Given the description of an element on the screen output the (x, y) to click on. 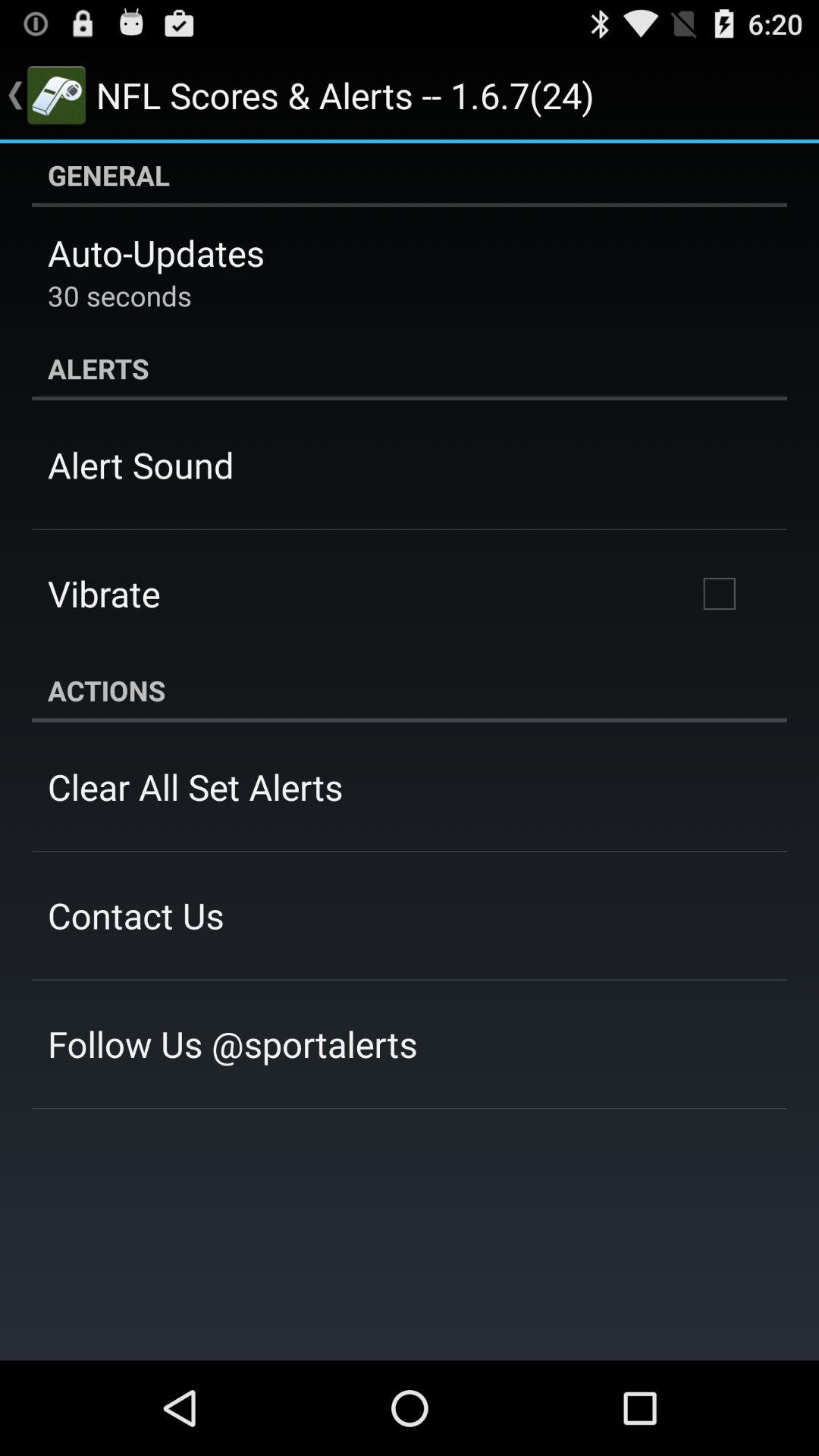
click the icon next to the vibrate icon (719, 593)
